Given the description of an element on the screen output the (x, y) to click on. 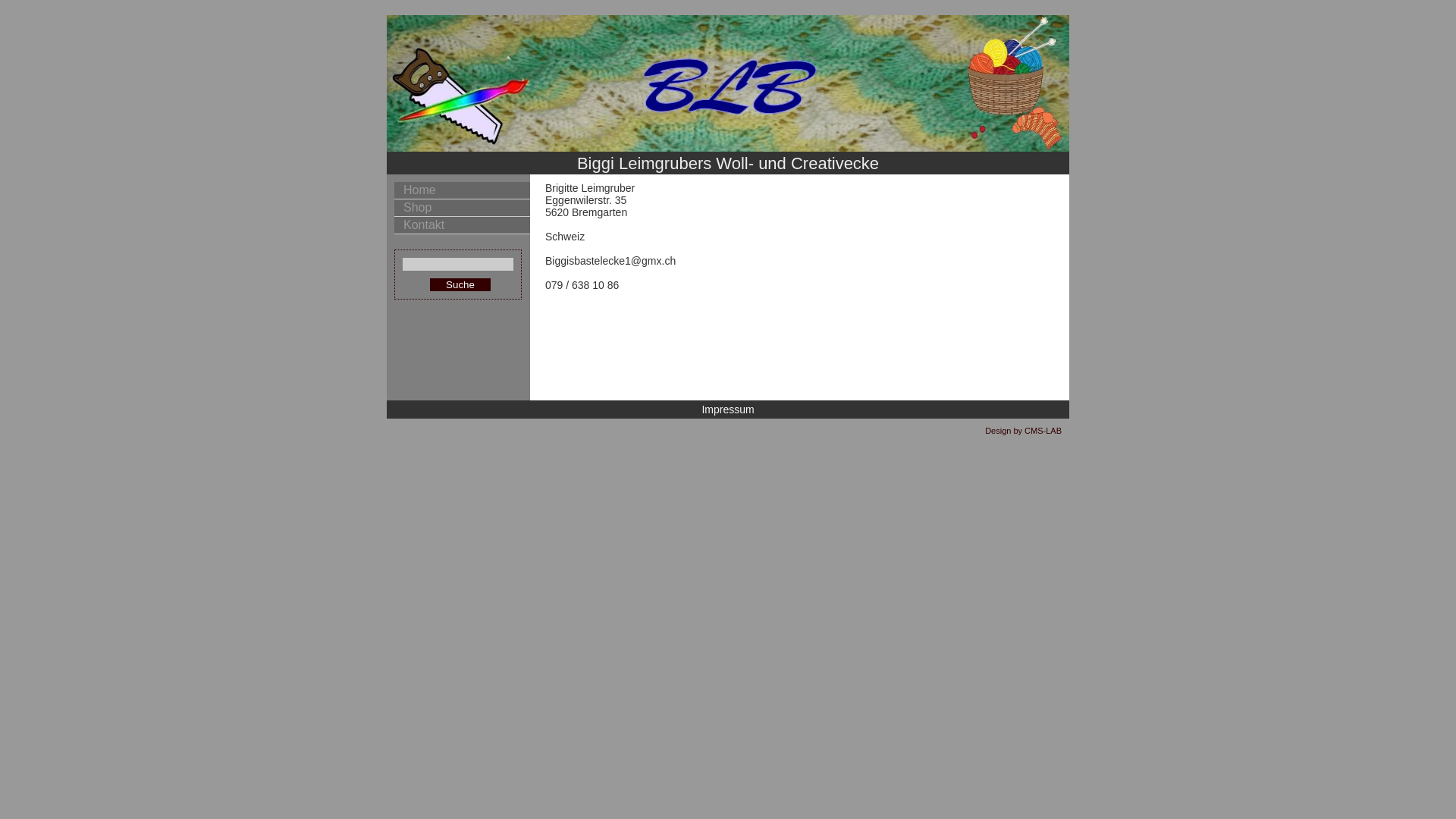
Kontakt Element type: text (462, 225)
Suche Element type: text (459, 284)
Design by CMS-LAB Element type: text (1023, 430)
Impressum Element type: text (727, 409)
Home Element type: text (462, 190)
Shop Element type: text (462, 207)
